Given the description of an element on the screen output the (x, y) to click on. 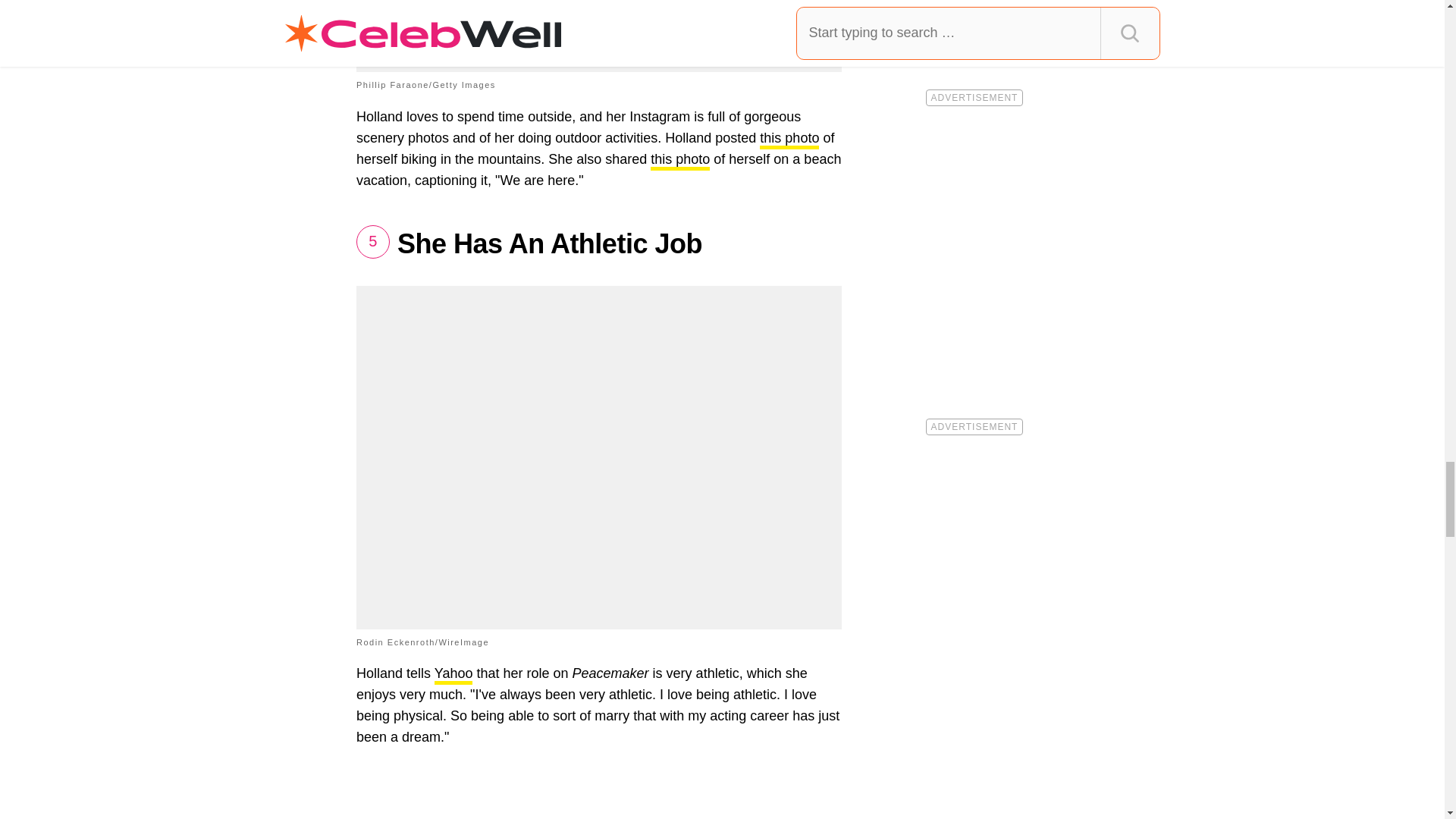
this photo (789, 139)
Yahoo (453, 674)
this photo (680, 160)
